Given the description of an element on the screen output the (x, y) to click on. 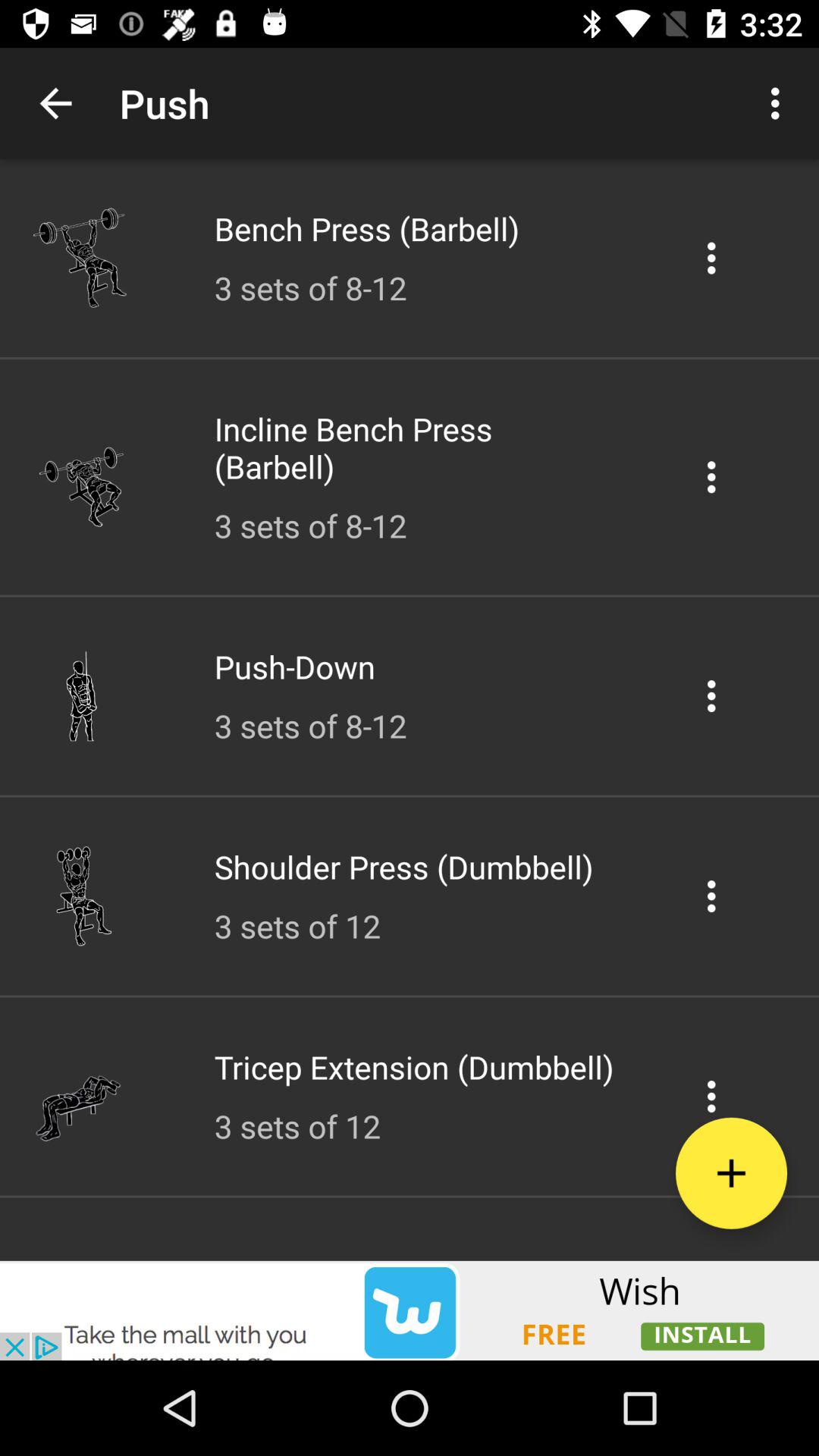
setting option (711, 477)
